Given the description of an element on the screen output the (x, y) to click on. 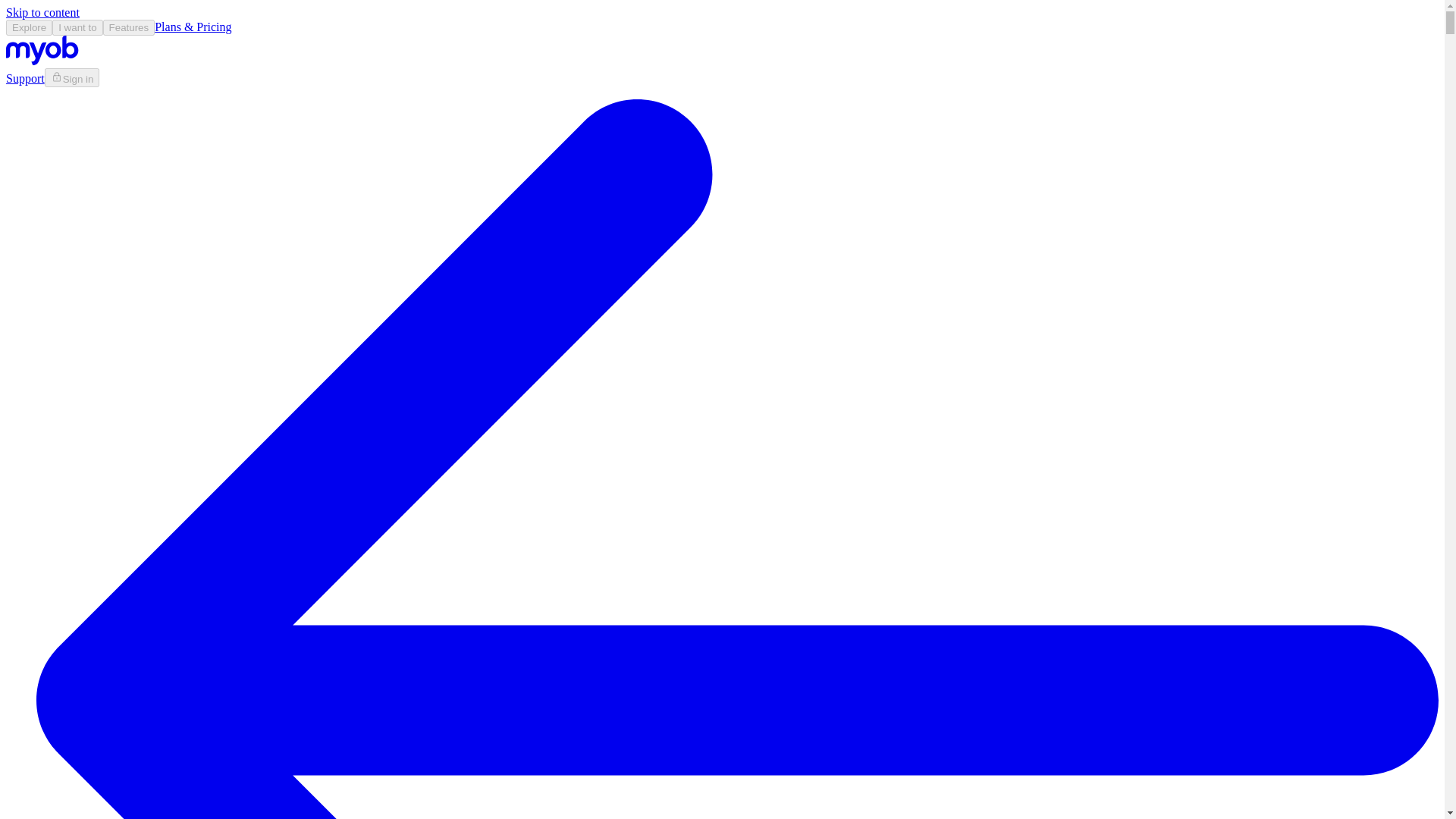
Skip to content (42, 11)
Sign in (72, 76)
Explore (28, 27)
MYOB (41, 60)
I want to (76, 27)
MYOB (41, 50)
Features (129, 27)
Support (25, 78)
